Given the description of an element on the screen output the (x, y) to click on. 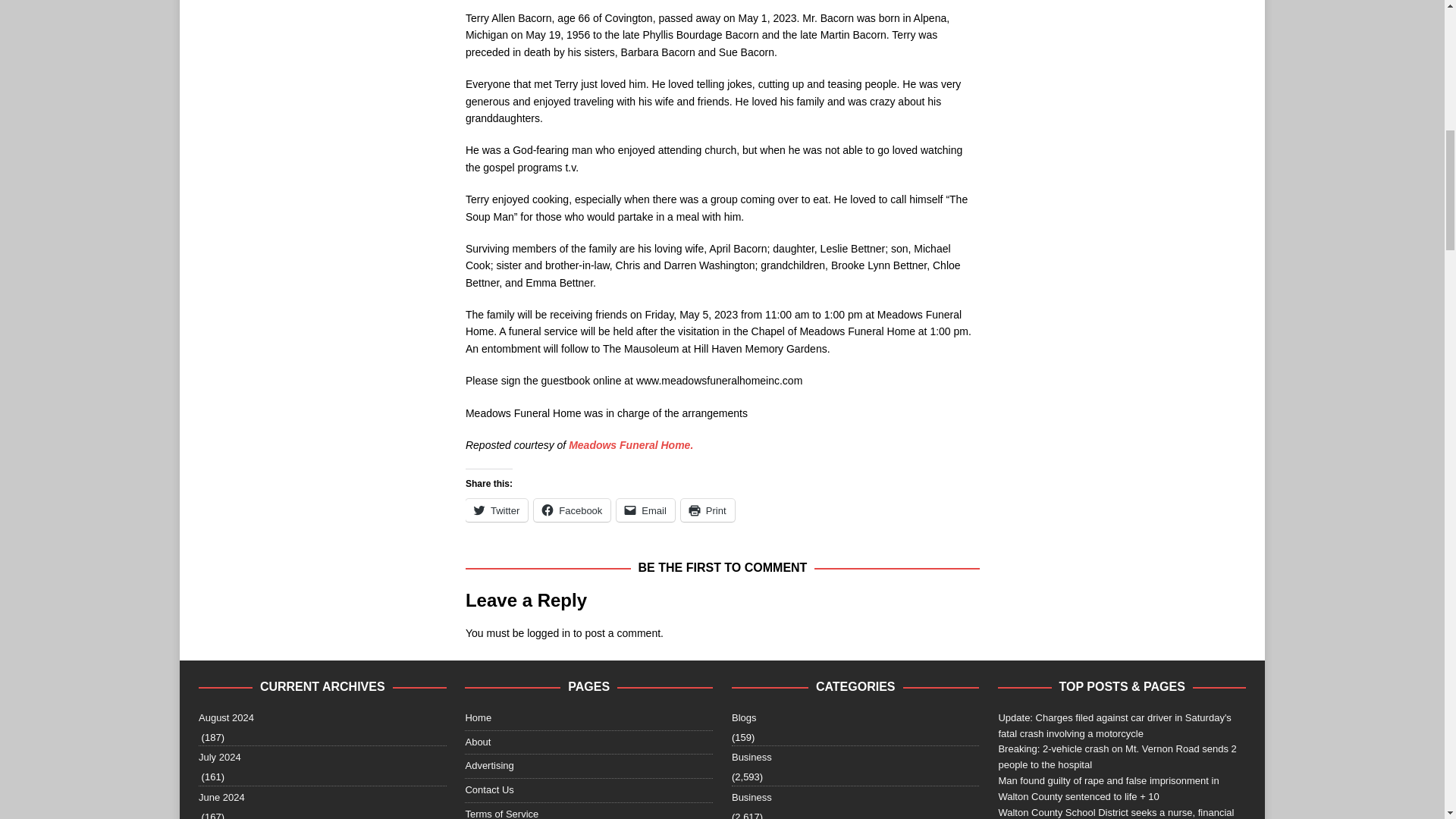
Click to email a link to a friend (645, 509)
Click to print (708, 509)
Click to share on Facebook (572, 509)
Click to share on Twitter (496, 509)
